Given the description of an element on the screen output the (x, y) to click on. 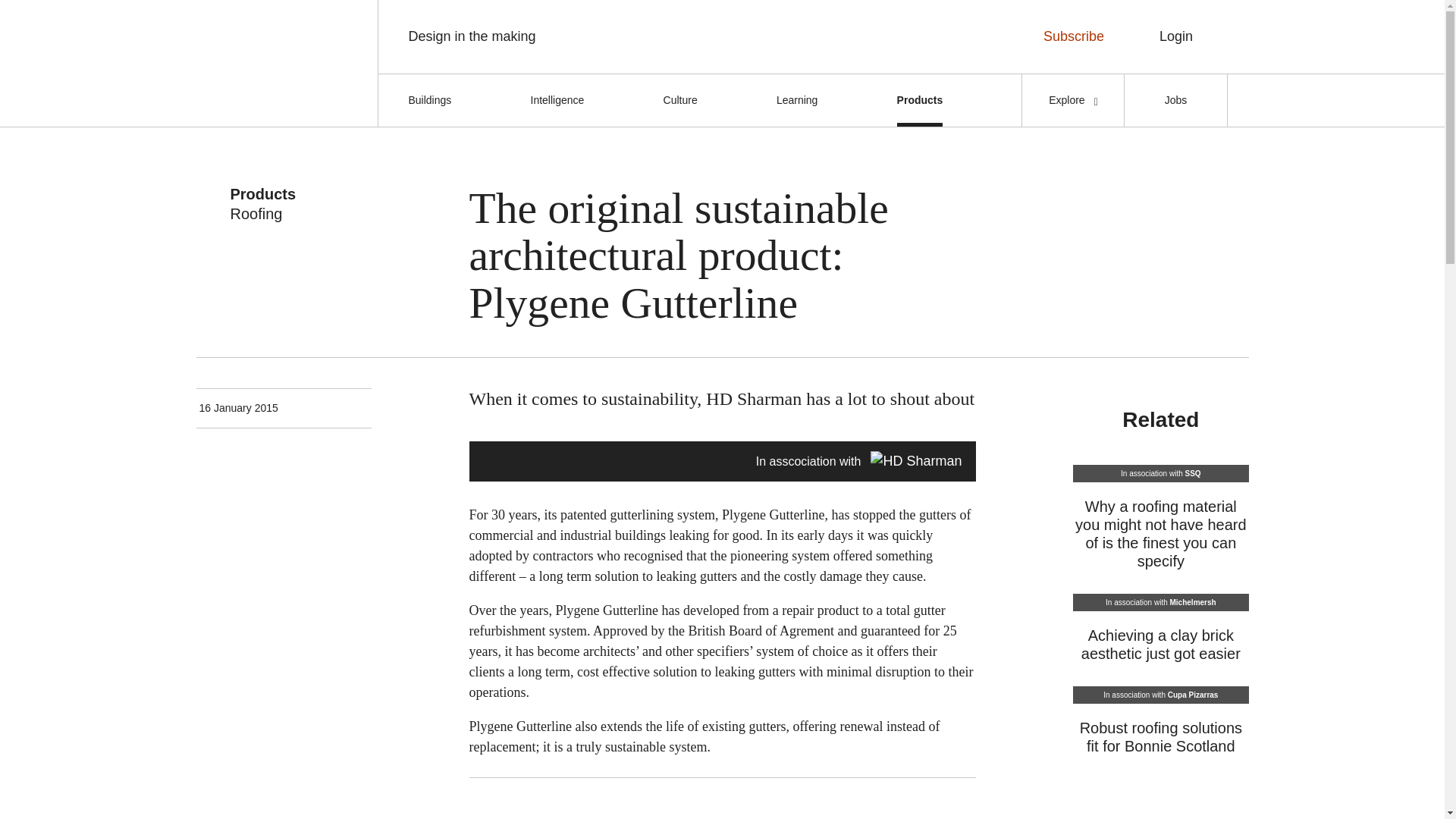
Subscribe (1073, 36)
Jobs (1174, 100)
RIBAJ (277, 62)
Intelligence (558, 100)
Login (1176, 36)
Explore (1073, 100)
